Given the description of an element on the screen output the (x, y) to click on. 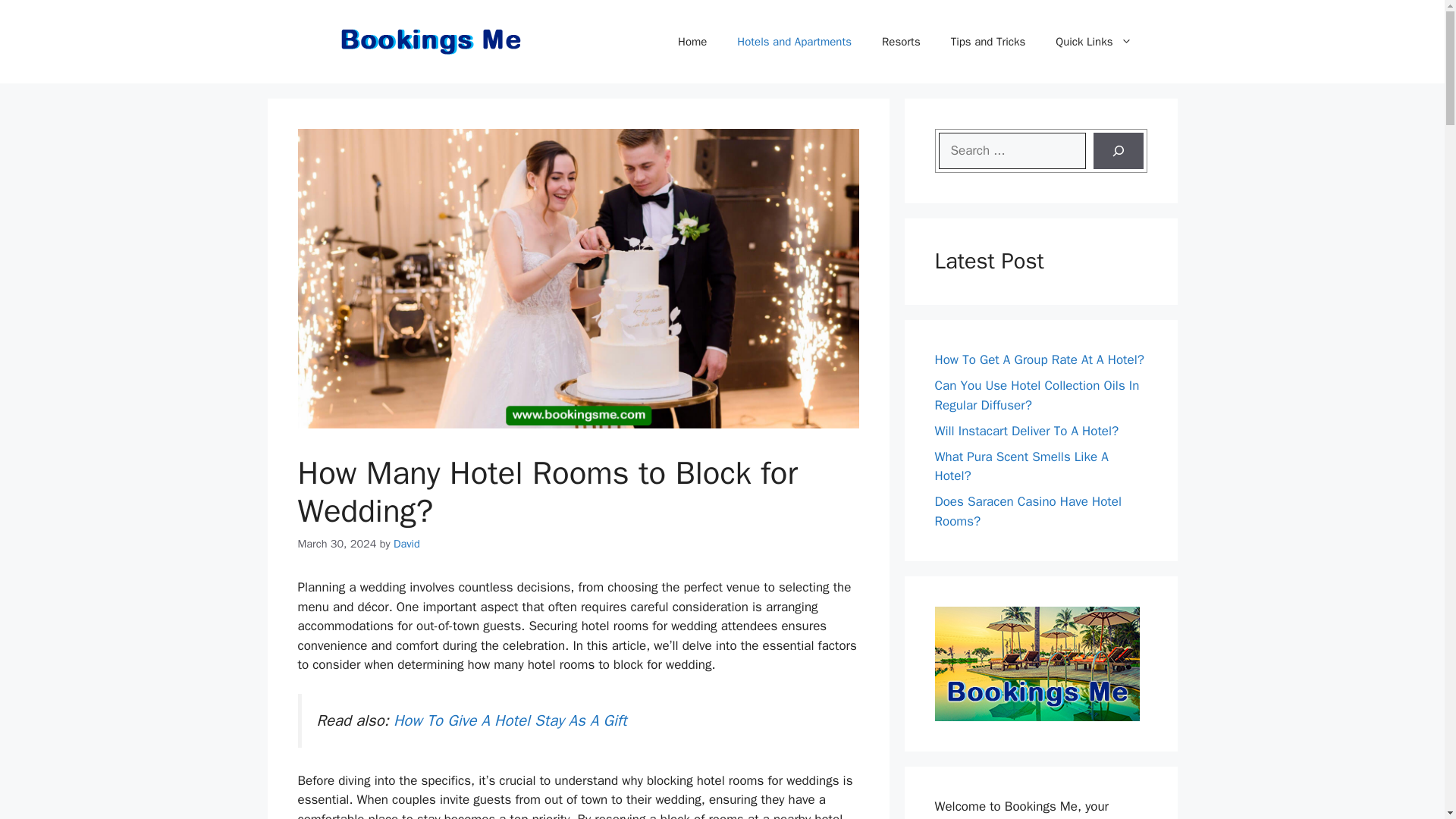
View all posts by David (406, 543)
David (406, 543)
Quick Links (1094, 41)
What Pura Scent Smells Like A Hotel? (1021, 466)
Hotels and Apartments (794, 41)
How To Give A Hotel Stay As A Gift (510, 720)
Tips and Tricks (988, 41)
Will Instacart Deliver To A Hotel? (1026, 430)
Can You Use Hotel Collection Oils In Regular Diffuser? (1036, 395)
Home (692, 41)
